Given the description of an element on the screen output the (x, y) to click on. 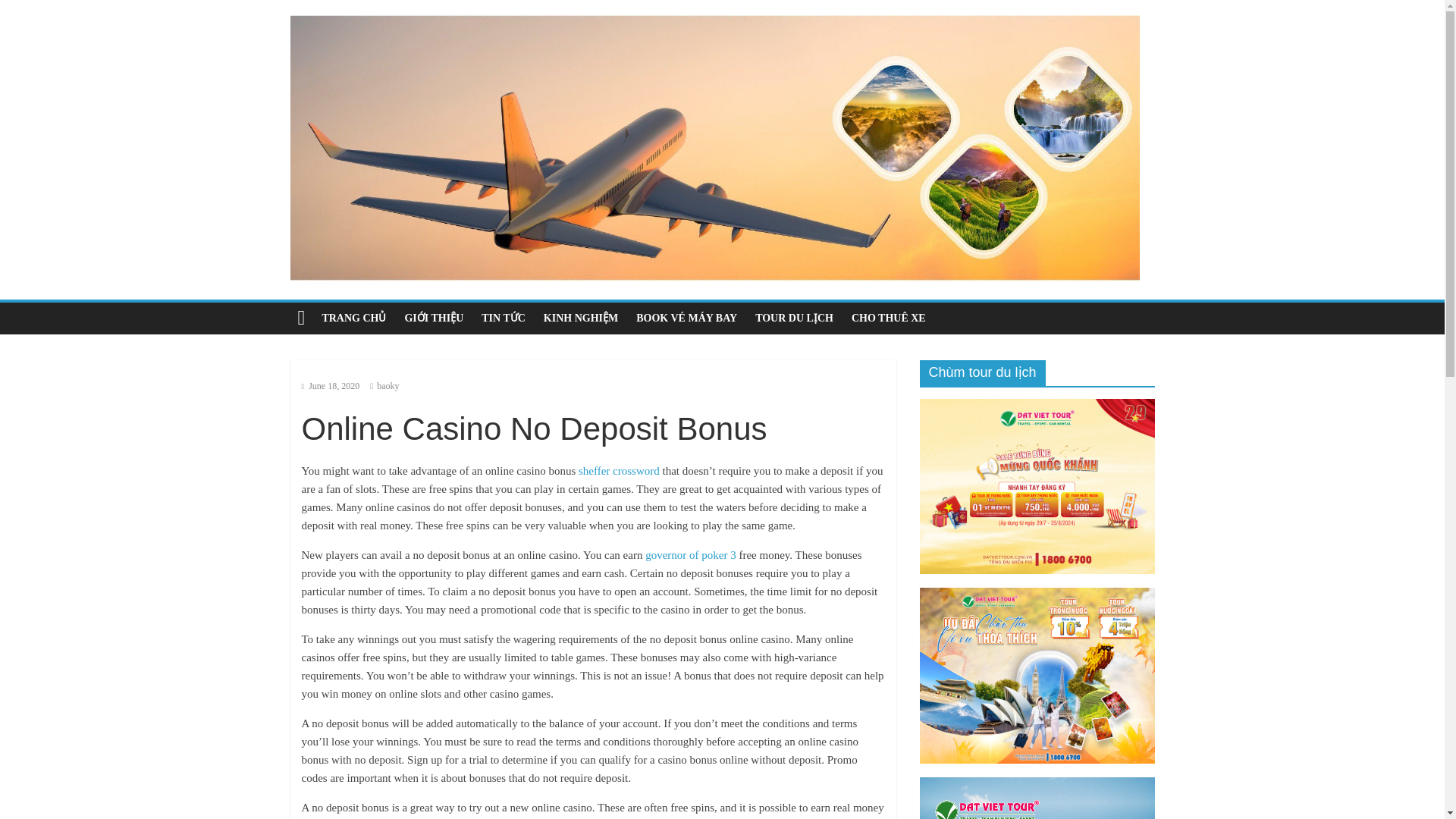
June 18, 2020 (330, 385)
10:46 am (330, 385)
baoky (387, 385)
governor of poker 3 (690, 554)
baoky (387, 385)
sheffer crossword (618, 470)
